Given the description of an element on the screen output the (x, y) to click on. 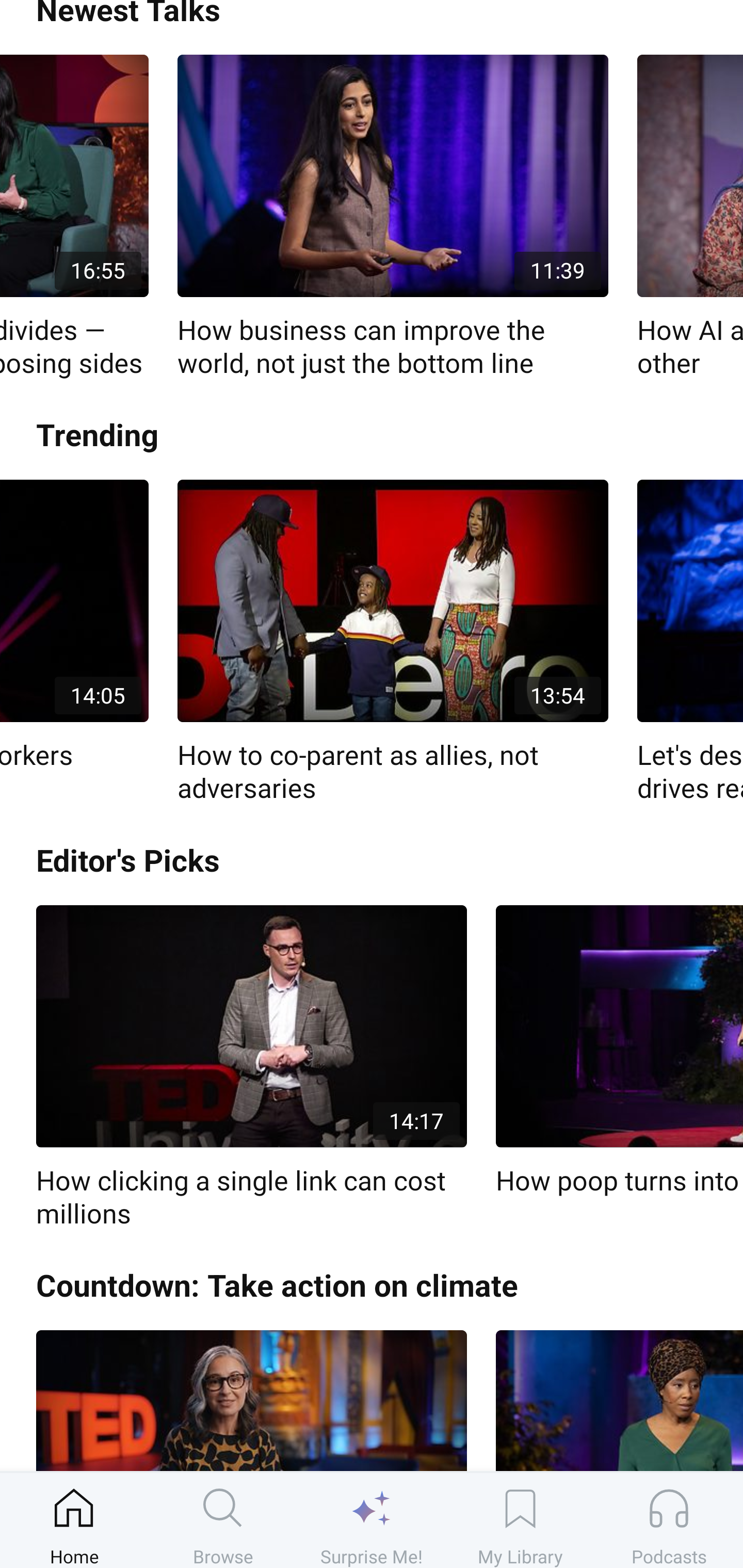
13:54 How to co-parent as allies, not adversaries (392, 642)
14:17 How clicking a single link can cost millions (251, 1067)
How poop turns into forests (619, 1050)
Home (74, 1520)
Browse (222, 1520)
Surprise Me! (371, 1520)
My Library (519, 1520)
Podcasts (668, 1520)
